Given the description of an element on the screen output the (x, y) to click on. 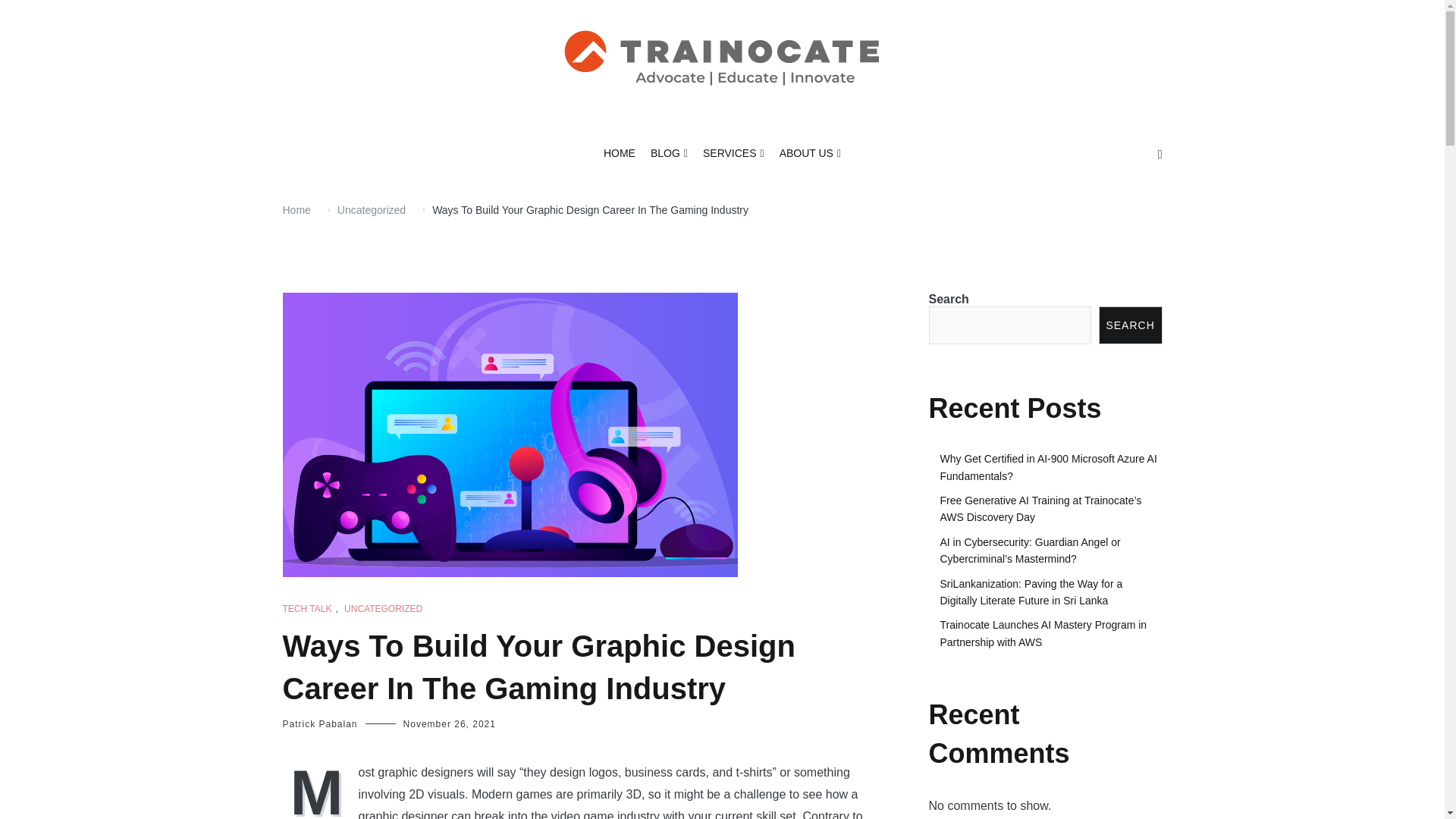
ABOUT US (809, 153)
BLOG (668, 153)
UNCATEGORIZED (382, 608)
Home (296, 209)
November 26, 2021 (449, 724)
M (320, 790)
Patrick Pabalan (319, 724)
SERVICES (733, 153)
Trainocate Blog (612, 134)
TECH TALK (306, 608)
Uncategorized (371, 209)
